Given the description of an element on the screen output the (x, y) to click on. 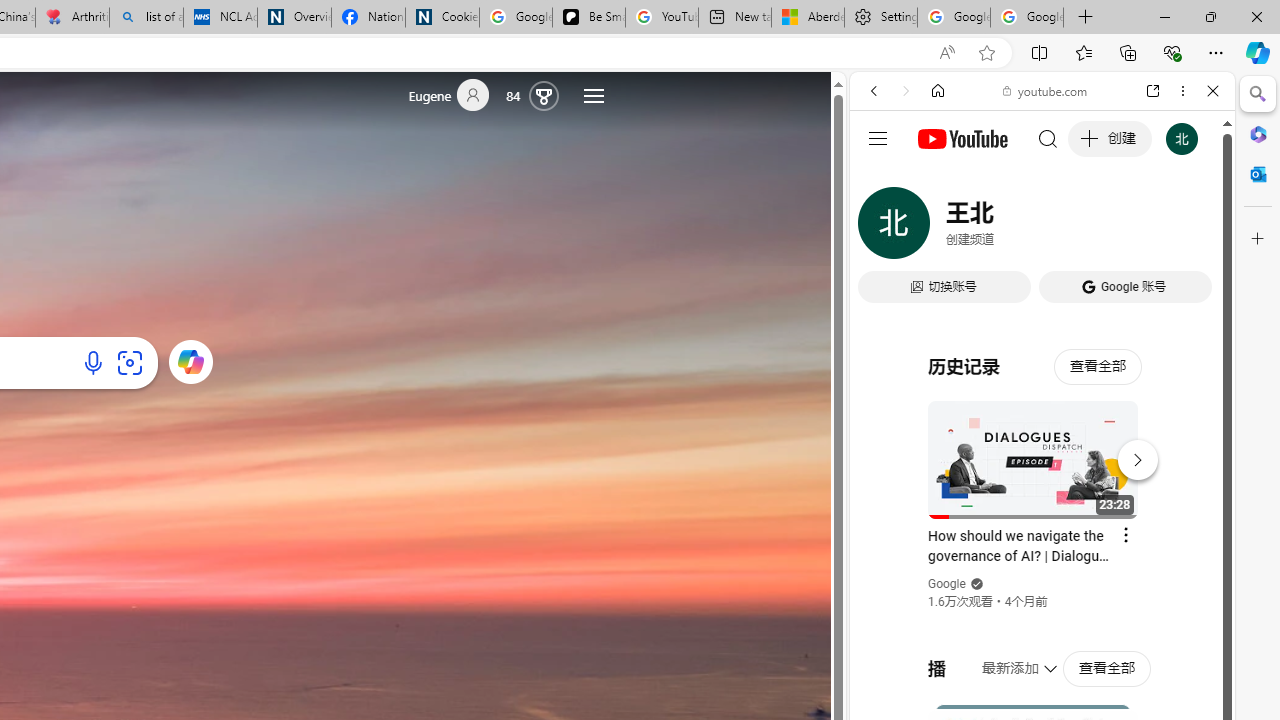
youtube.com (1046, 90)
Learn more (189, 361)
